Given the description of an element on the screen output the (x, y) to click on. 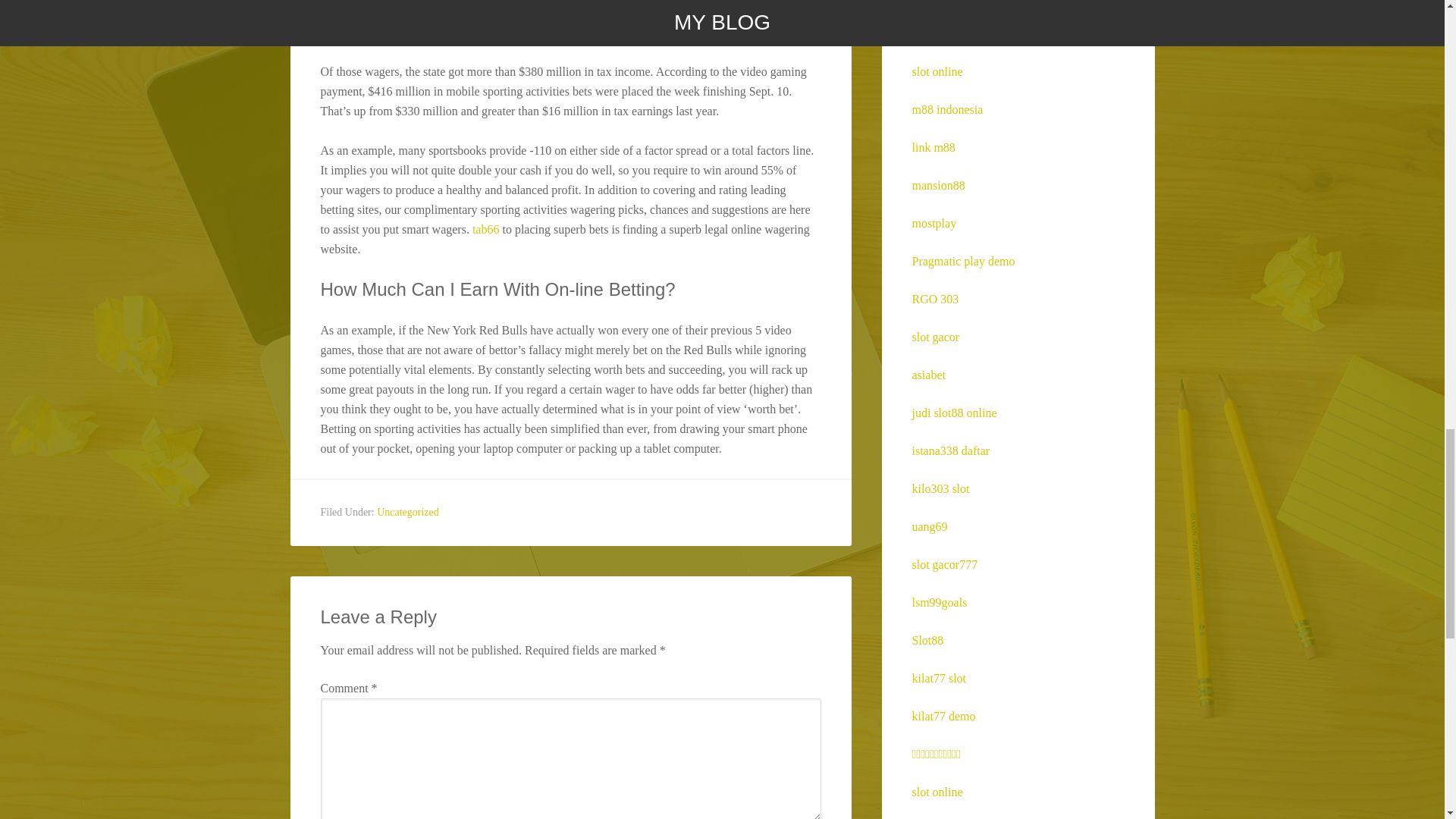
Uncategorized (408, 511)
tab66 (485, 228)
